Given the description of an element on the screen output the (x, y) to click on. 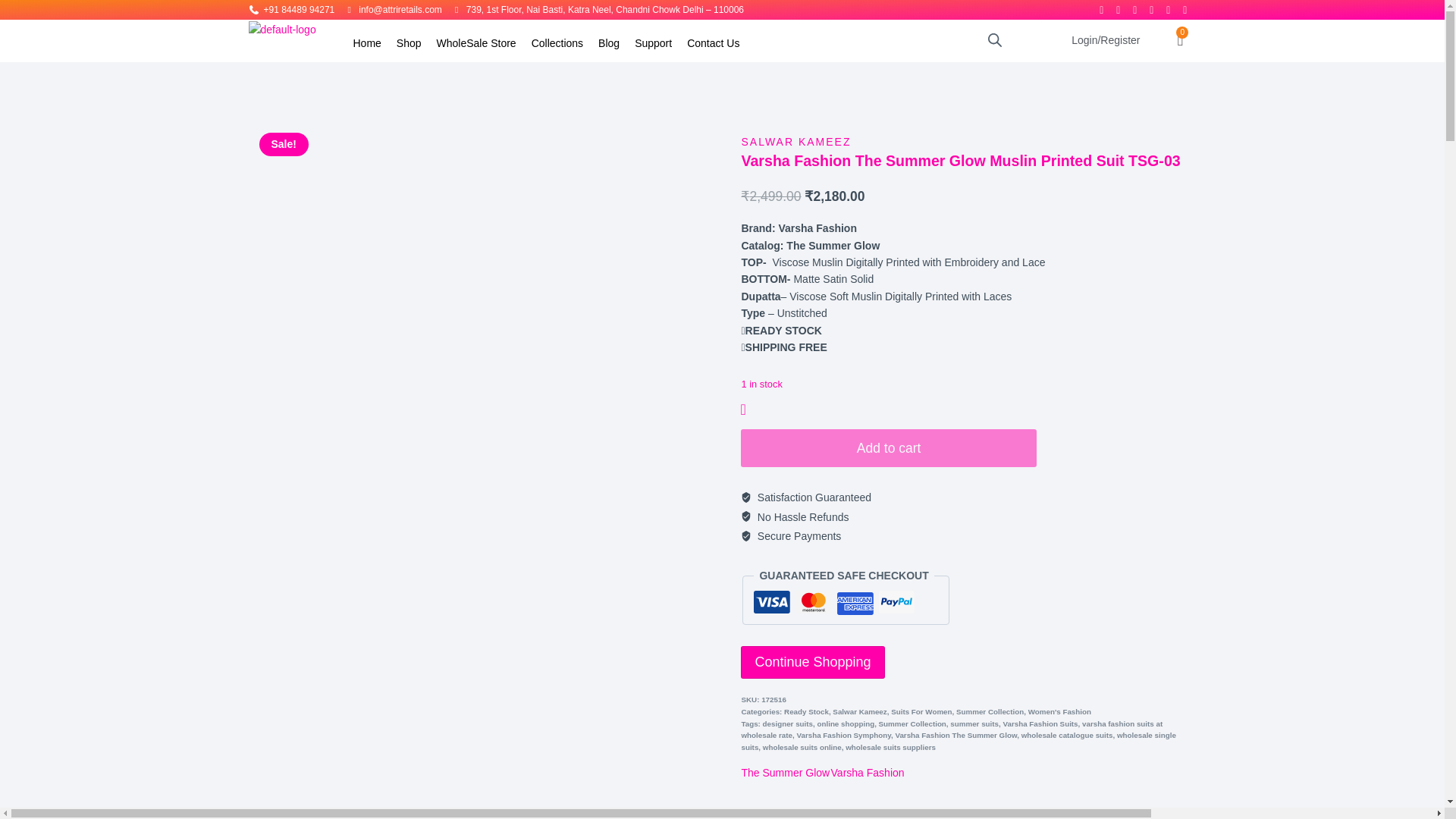
Home (367, 42)
Shop (408, 42)
WholeSale Store (476, 42)
View brand (785, 772)
Collections (557, 42)
View brand (867, 772)
